Given the description of an element on the screen output the (x, y) to click on. 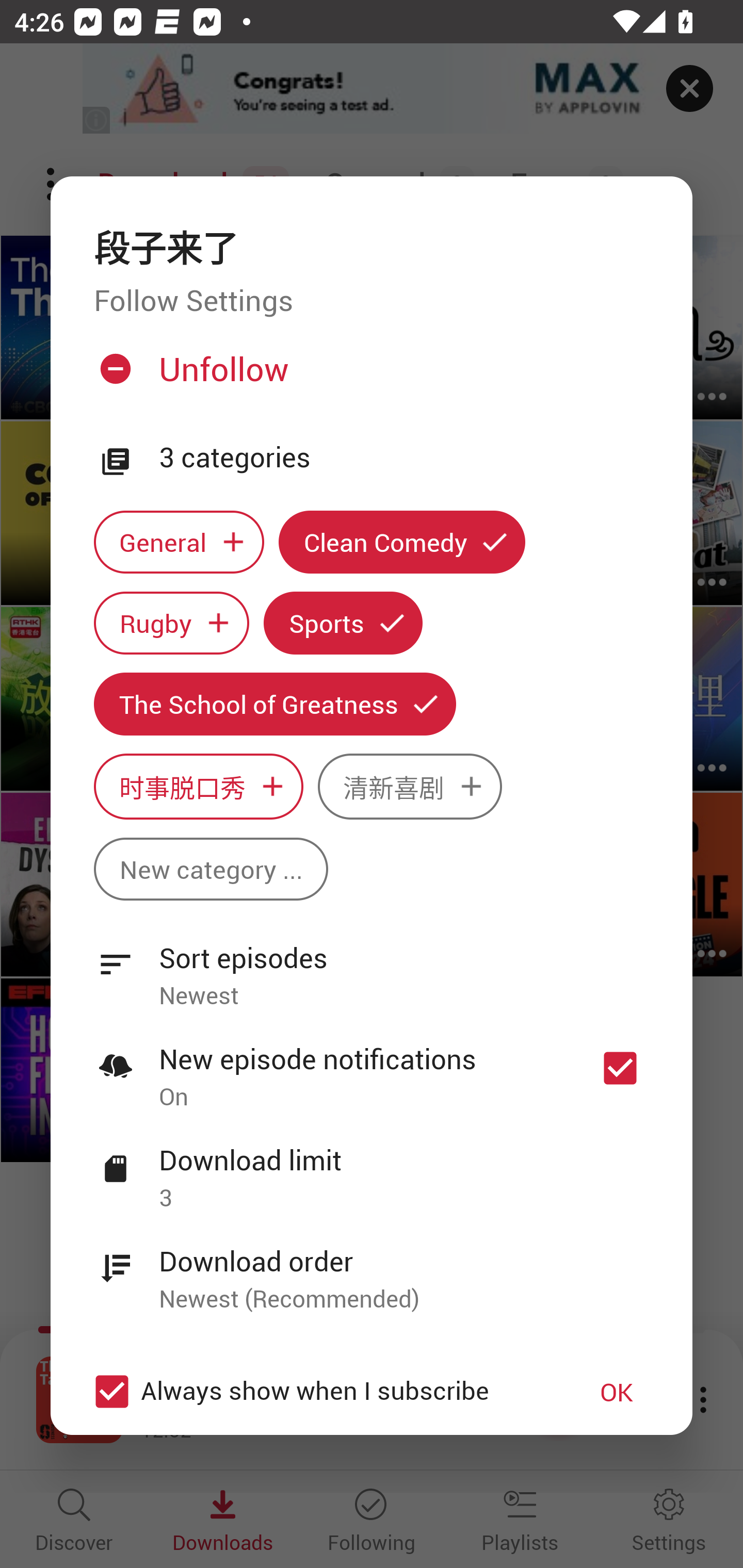
Unfollow (369, 376)
3 categories (404, 457)
General (178, 542)
Clean Comedy (401, 542)
Rugby (170, 622)
Sports (342, 622)
The School of Greatness (274, 703)
时事脱口秀 (198, 787)
清新喜剧 (410, 787)
New category ... (210, 868)
Sort episodes Newest (371, 965)
New episode notifications (620, 1068)
Download limit 3 (371, 1167)
Download order Newest (Recommended) (371, 1268)
OK (616, 1391)
Always show when I subscribe (320, 1391)
